Given the description of an element on the screen output the (x, y) to click on. 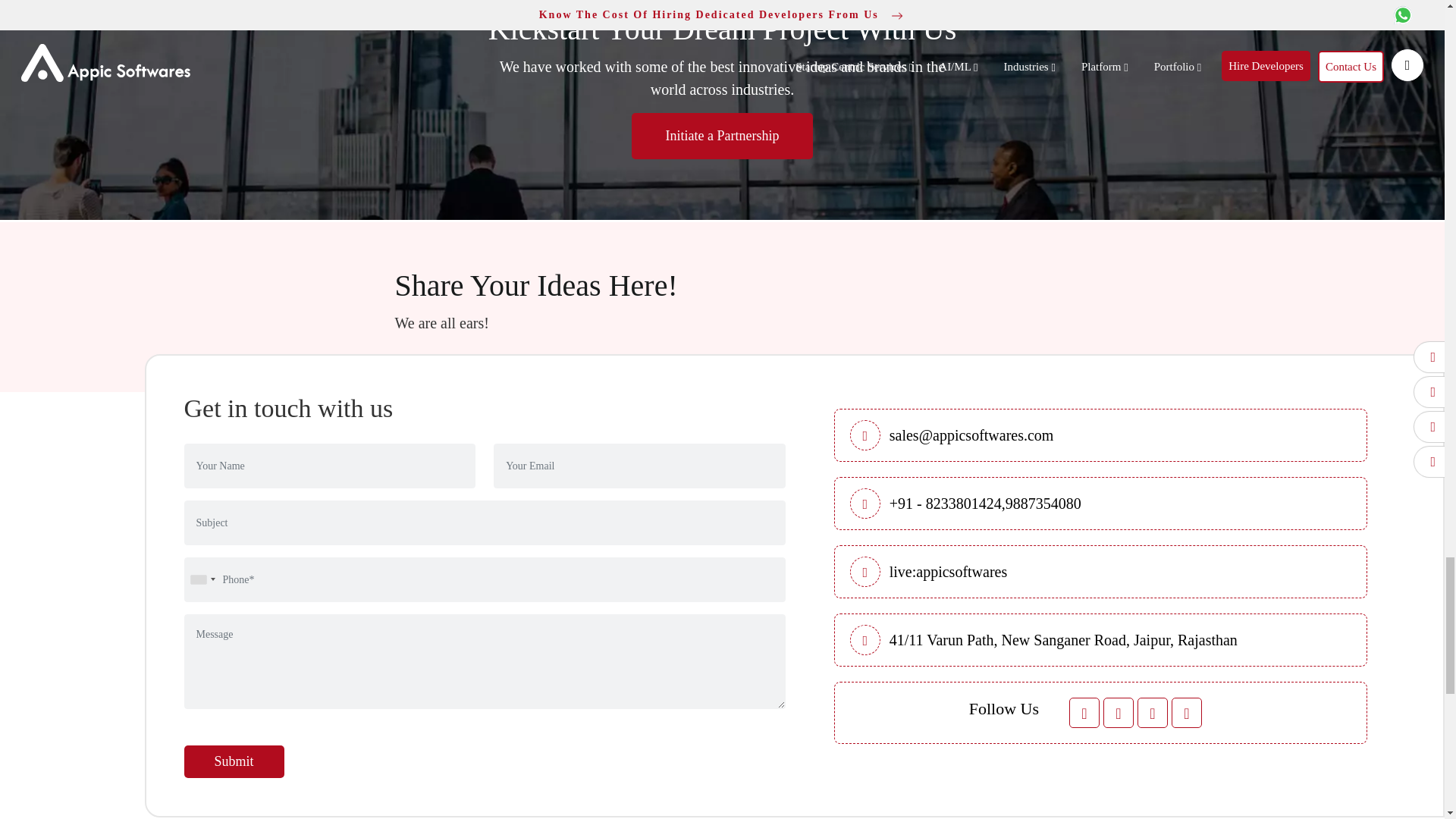
facebook (1083, 712)
Submit (233, 761)
1 (945, 503)
linkein (1152, 712)
twitter (1118, 712)
instagram (1187, 712)
2 (1043, 503)
